Given the description of an element on the screen output the (x, y) to click on. 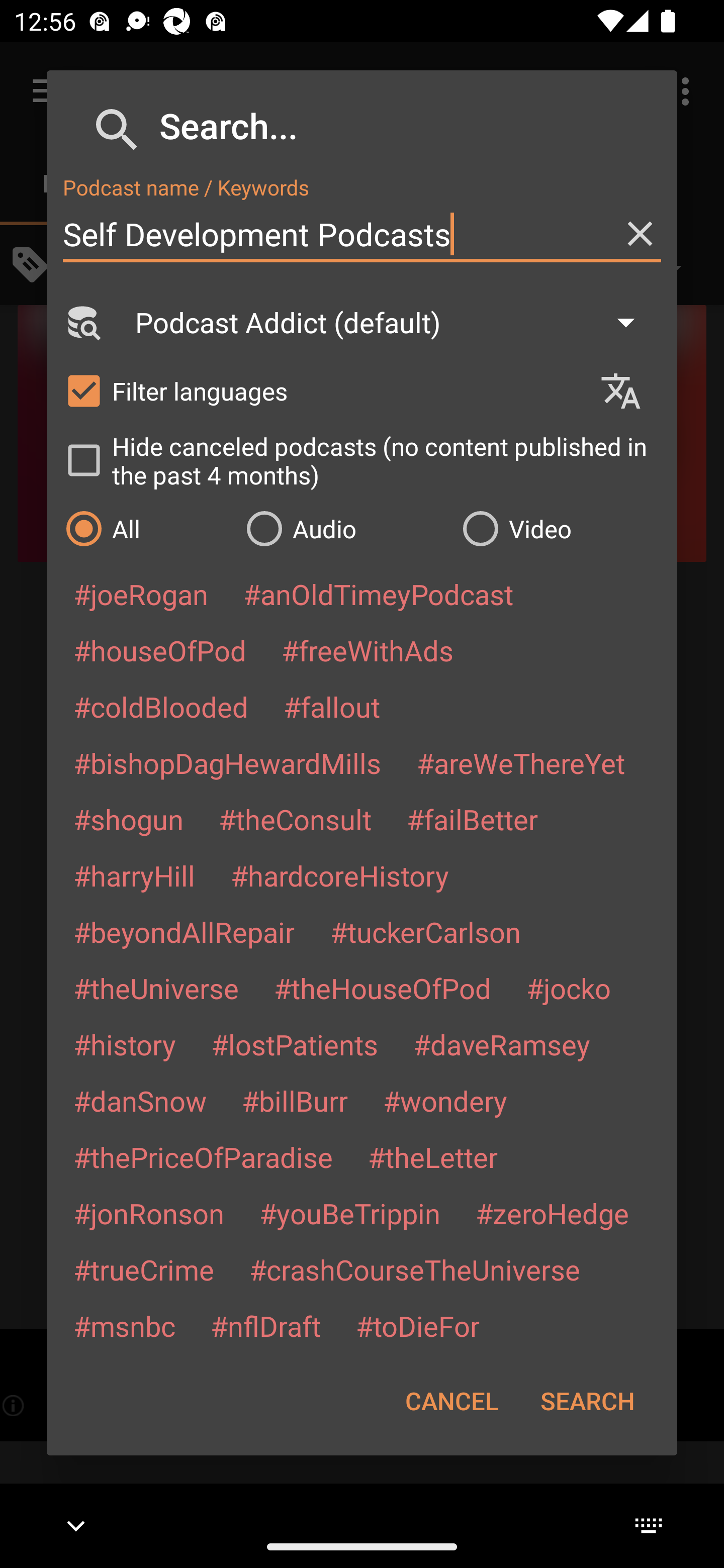
Self Development Podcasts (361, 234)
Search Engine (82, 322)
Podcast Addict (default) (394, 322)
Languages selection (629, 390)
Filter languages (322, 390)
All (145, 528)
Audio (344, 528)
Video (560, 528)
#joeRogan (140, 594)
#anOldTimeyPodcast (378, 594)
#houseOfPod (159, 650)
#freeWithAds (367, 650)
#coldBlooded (160, 705)
#fallout (331, 705)
#bishopDagHewardMills (227, 762)
#areWeThereYet (521, 762)
#shogun (128, 818)
#theConsult (294, 818)
#failBetter (471, 818)
#harryHill (134, 875)
#hardcoreHistory (339, 875)
#beyondAllRepair (184, 931)
#tuckerCarlson (425, 931)
#theUniverse (155, 987)
#theHouseOfPod (381, 987)
#jocko (568, 987)
#history (124, 1044)
#lostPatients (294, 1044)
#daveRamsey (501, 1044)
#danSnow (139, 1100)
#billBurr (294, 1100)
#wondery (444, 1100)
#thePriceOfParadise (203, 1157)
#theLetter (432, 1157)
#jonRonson (148, 1213)
#youBeTrippin (349, 1213)
#zeroHedge (552, 1213)
#trueCrime (143, 1268)
#crashCourseTheUniverse (414, 1268)
#msnbc (124, 1325)
#nflDraft (265, 1325)
#toDieFor (417, 1325)
CANCEL (451, 1400)
SEARCH (587, 1400)
